Given the description of an element on the screen output the (x, y) to click on. 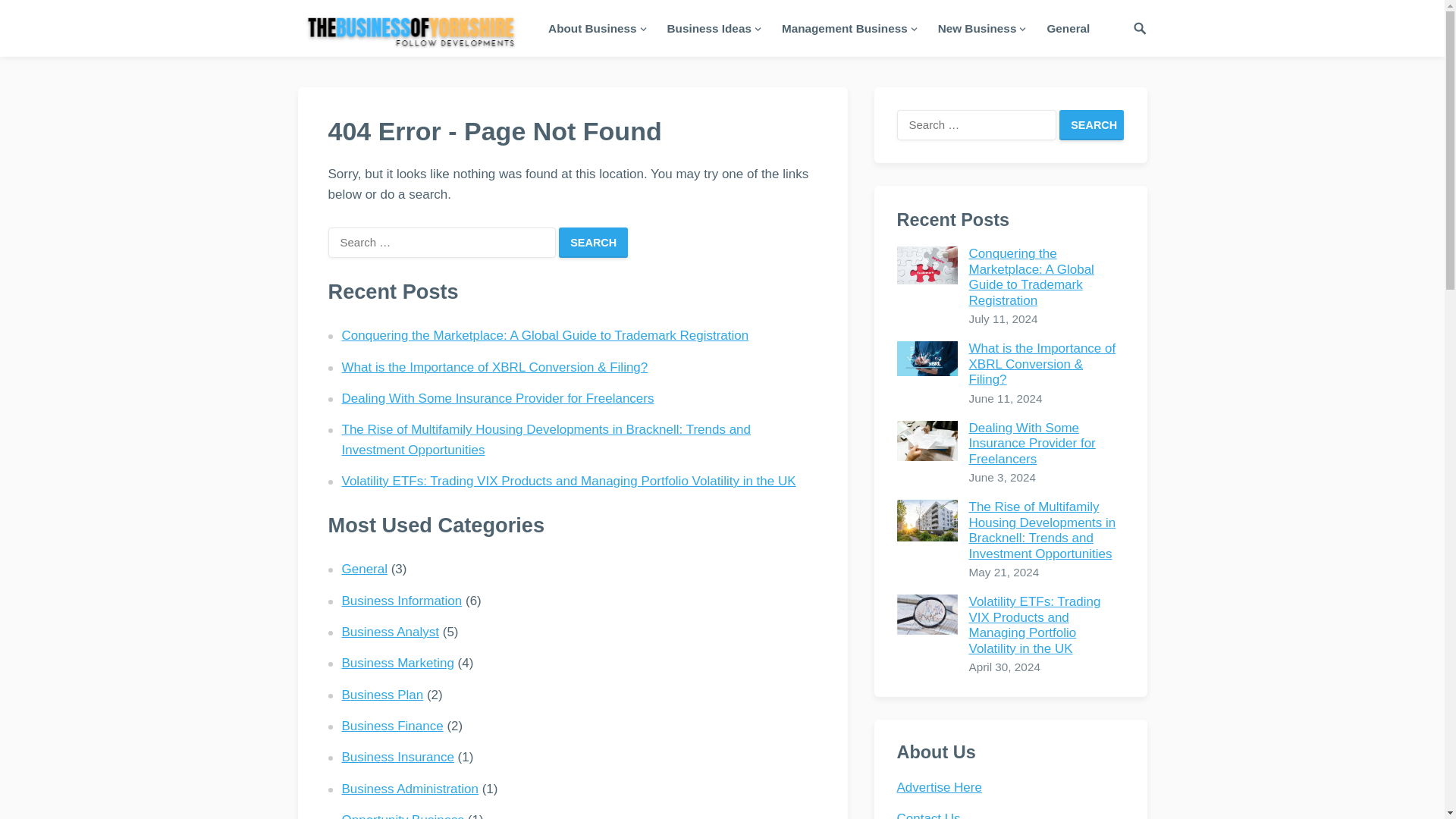
About Business (596, 28)
Search (593, 242)
Search (1091, 124)
Dealing With Some Insurance Provider for Freelancers (926, 440)
Management Business (848, 28)
New Business (980, 28)
General (1067, 28)
